Given the description of an element on the screen output the (x, y) to click on. 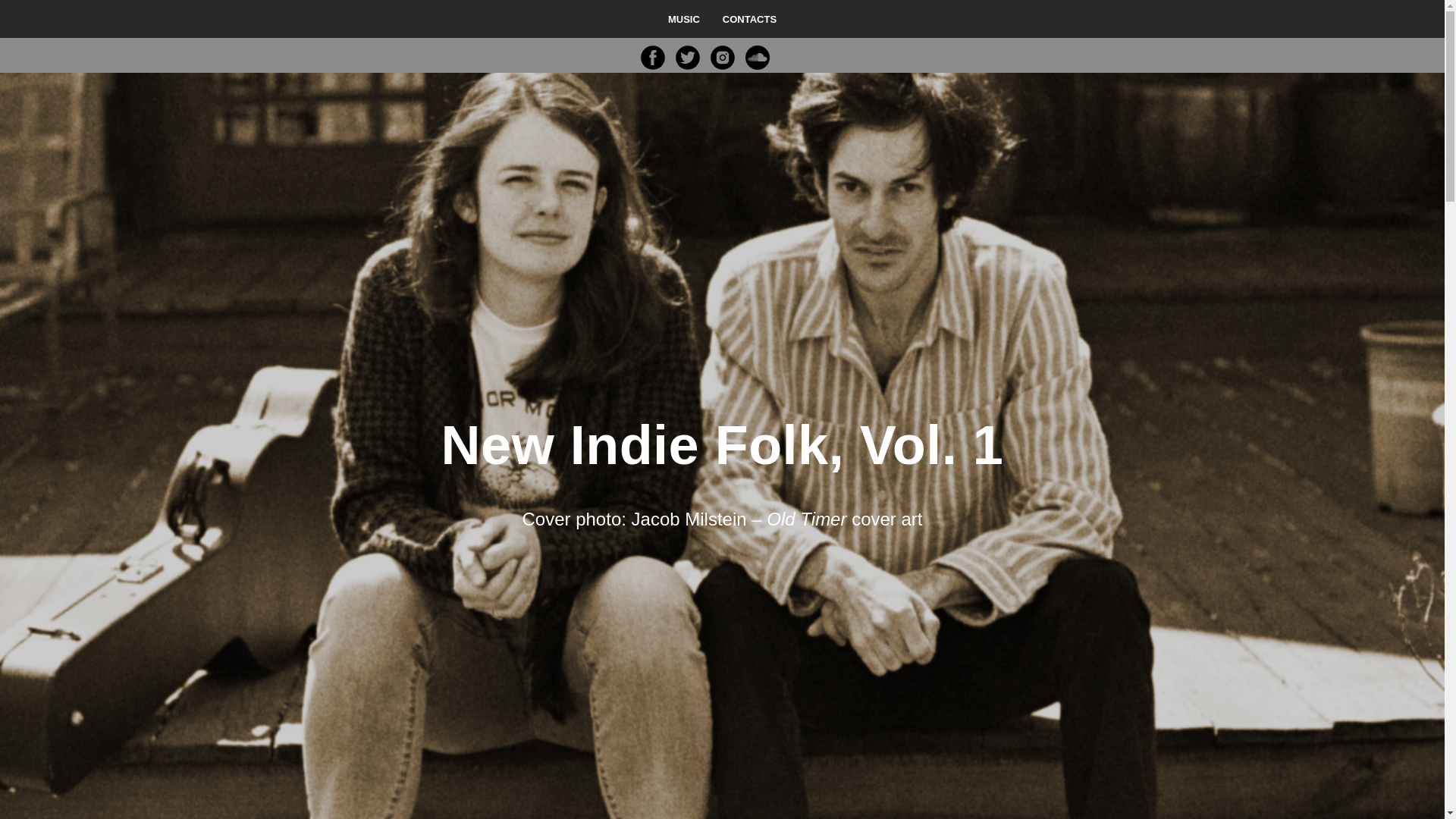
MUSIC (684, 19)
CONTACTS (749, 19)
